Given the description of an element on the screen output the (x, y) to click on. 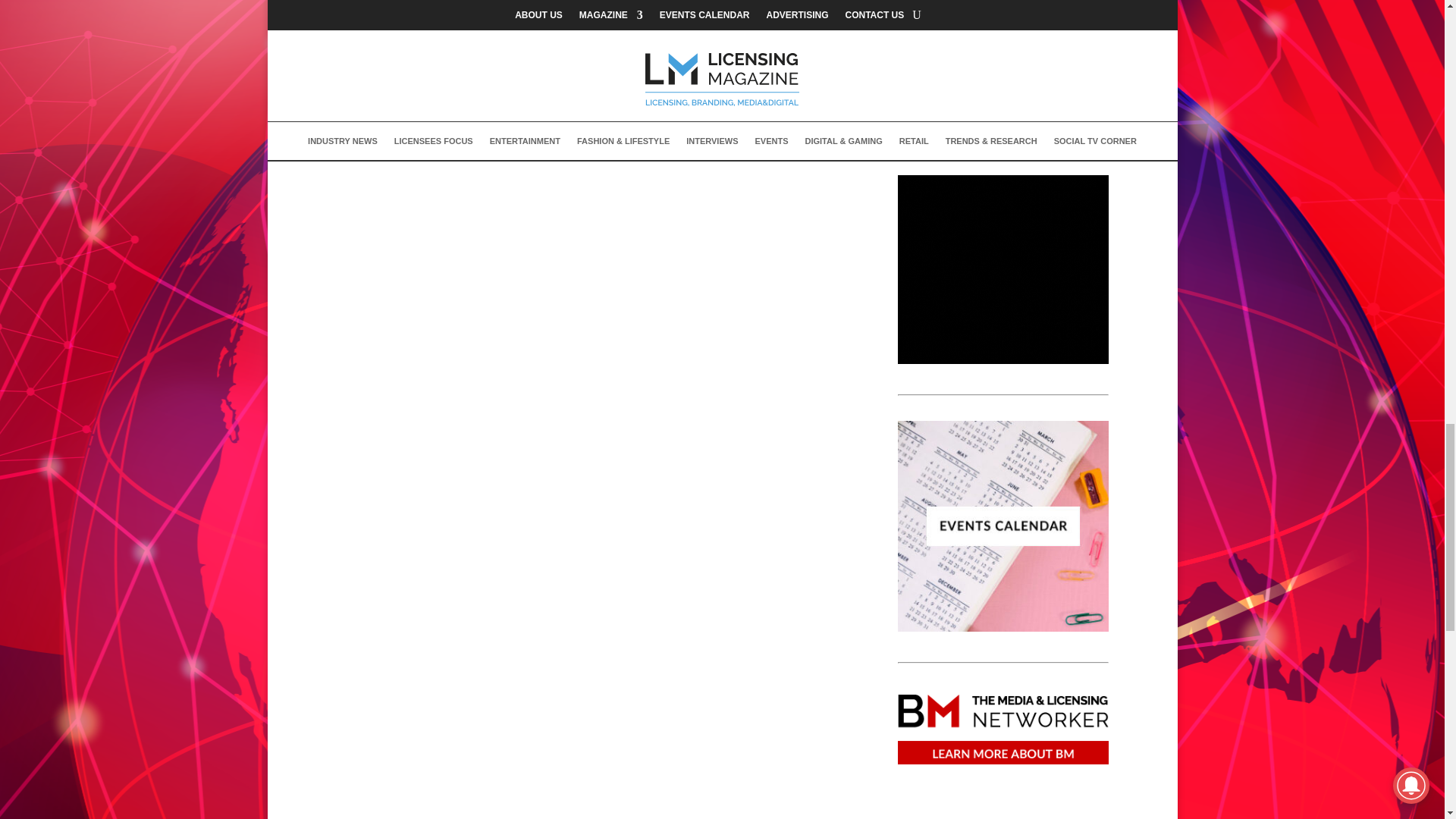
Linkedin (456, 98)
Page 2 (581, 30)
Facebook (341, 98)
Instagram (513, 98)
Twitter (398, 98)
Whatsapp (571, 98)
